Given the description of an element on the screen output the (x, y) to click on. 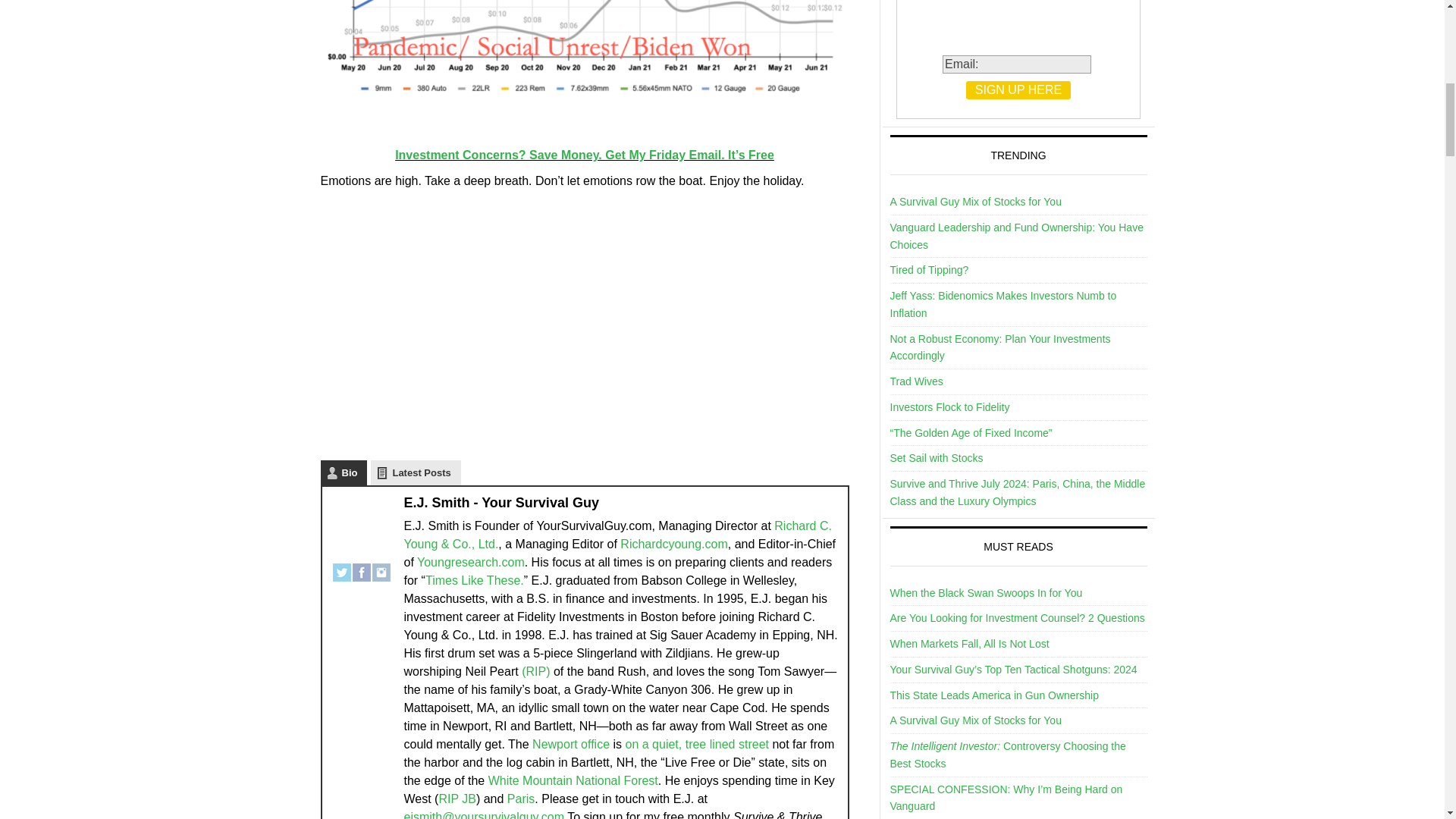
Sign Up Here (1018, 90)
Instagram (380, 566)
Facebook (360, 566)
YouTube video player (532, 309)
Twitter (340, 566)
Email: (1016, 64)
